Given the description of an element on the screen output the (x, y) to click on. 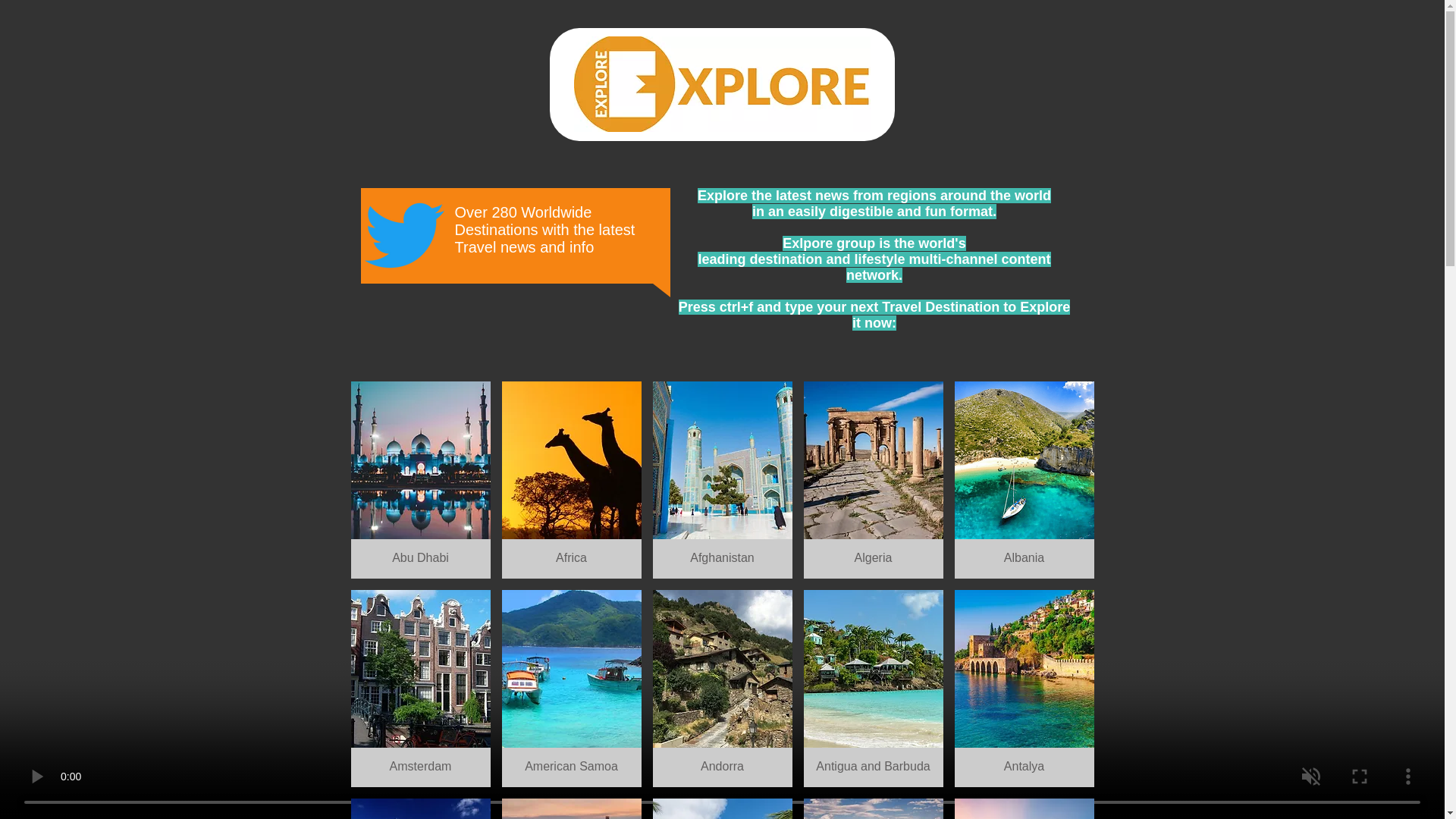
Afghanistan (722, 479)
Abu Dhabi (419, 479)
Africa (572, 479)
Armenia (873, 808)
Anguilla (419, 808)
Asia (1023, 808)
Aruba (722, 808)
Angola (572, 808)
Andorra (722, 688)
Albania (1023, 479)
Antigua and Barbuda (873, 688)
Amsterdam (419, 688)
American Samoa (572, 688)
Antalya (1023, 688)
Algeria (873, 479)
